Given the description of an element on the screen output the (x, y) to click on. 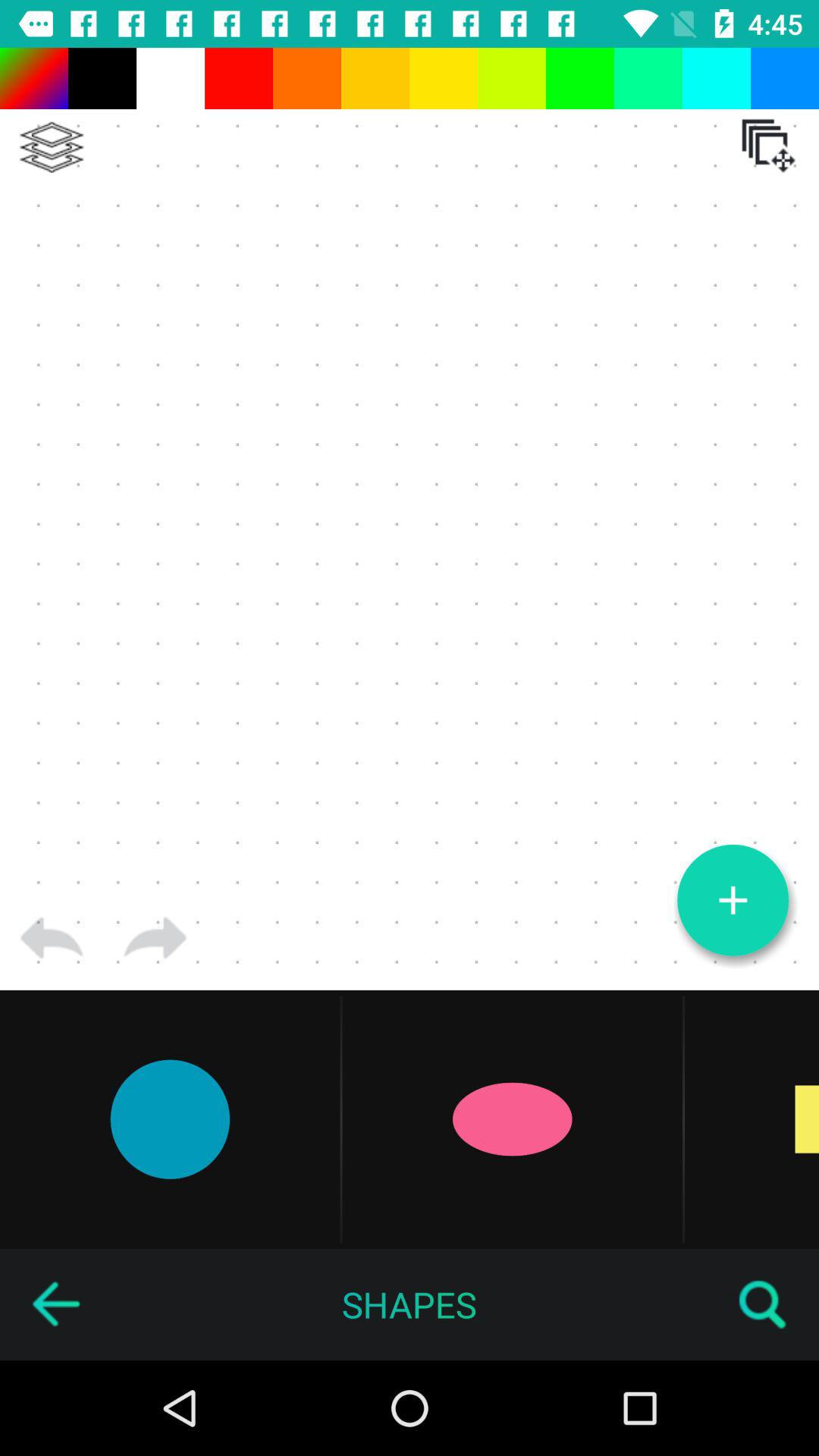
undo option (51, 938)
